Given the description of an element on the screen output the (x, y) to click on. 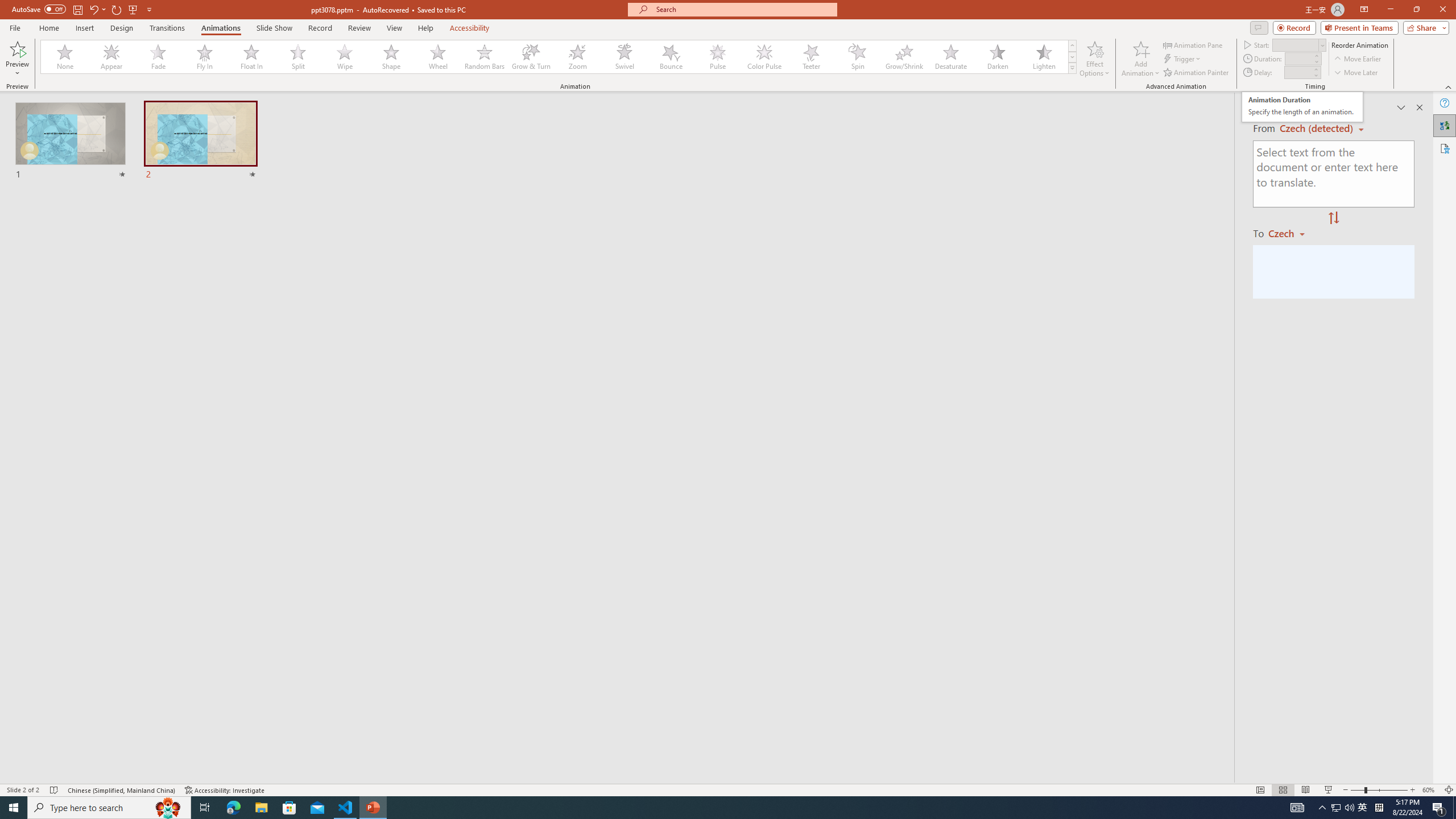
Animation Painter (1196, 72)
Appear (111, 56)
Grow & Turn (531, 56)
